Given the description of an element on the screen output the (x, y) to click on. 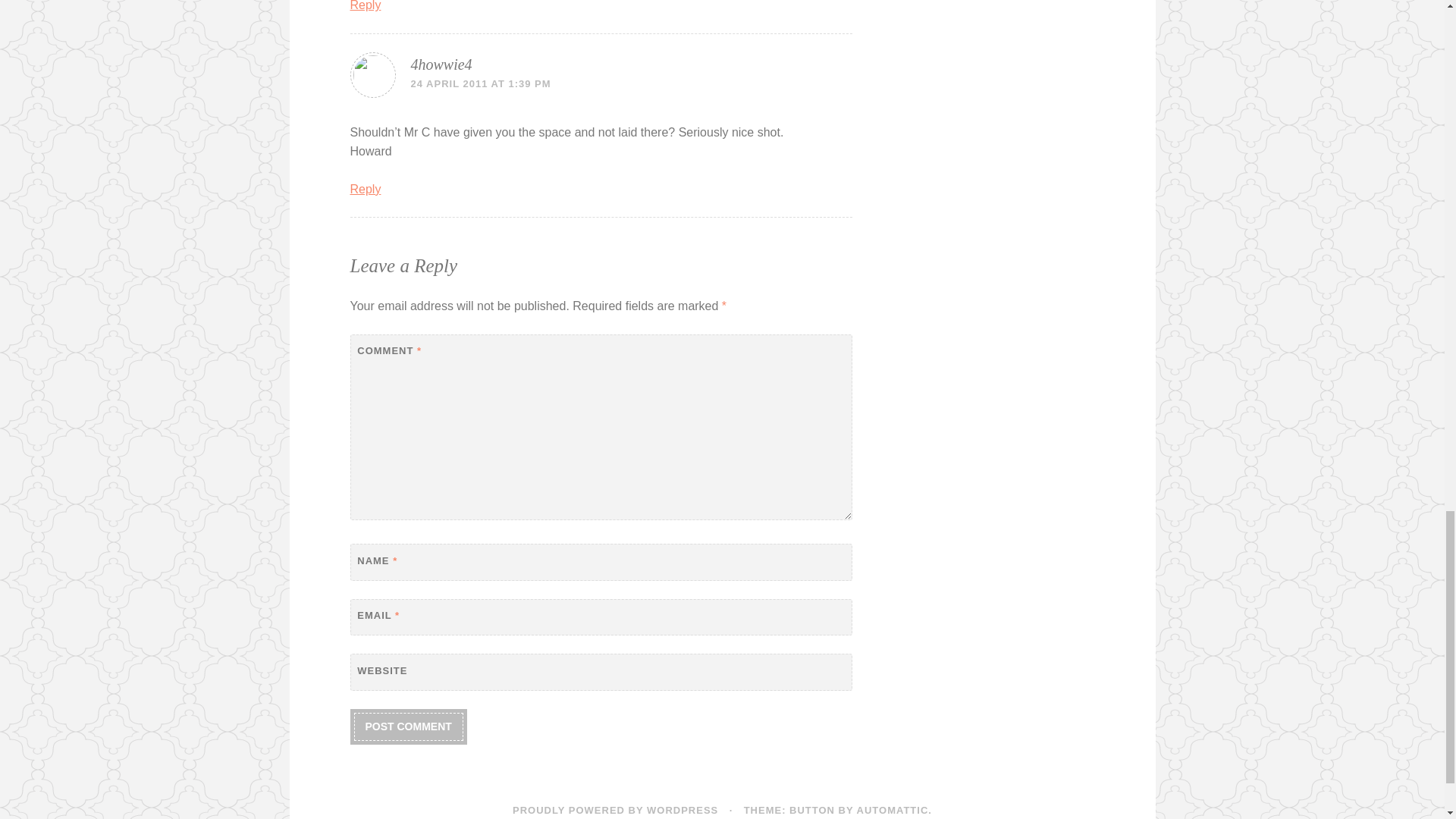
Post Comment (408, 726)
Reply (365, 188)
Reply (365, 5)
24 APRIL 2011 AT 1:39 PM (480, 83)
Post Comment (408, 726)
4howwie4 (440, 64)
